Given the description of an element on the screen output the (x, y) to click on. 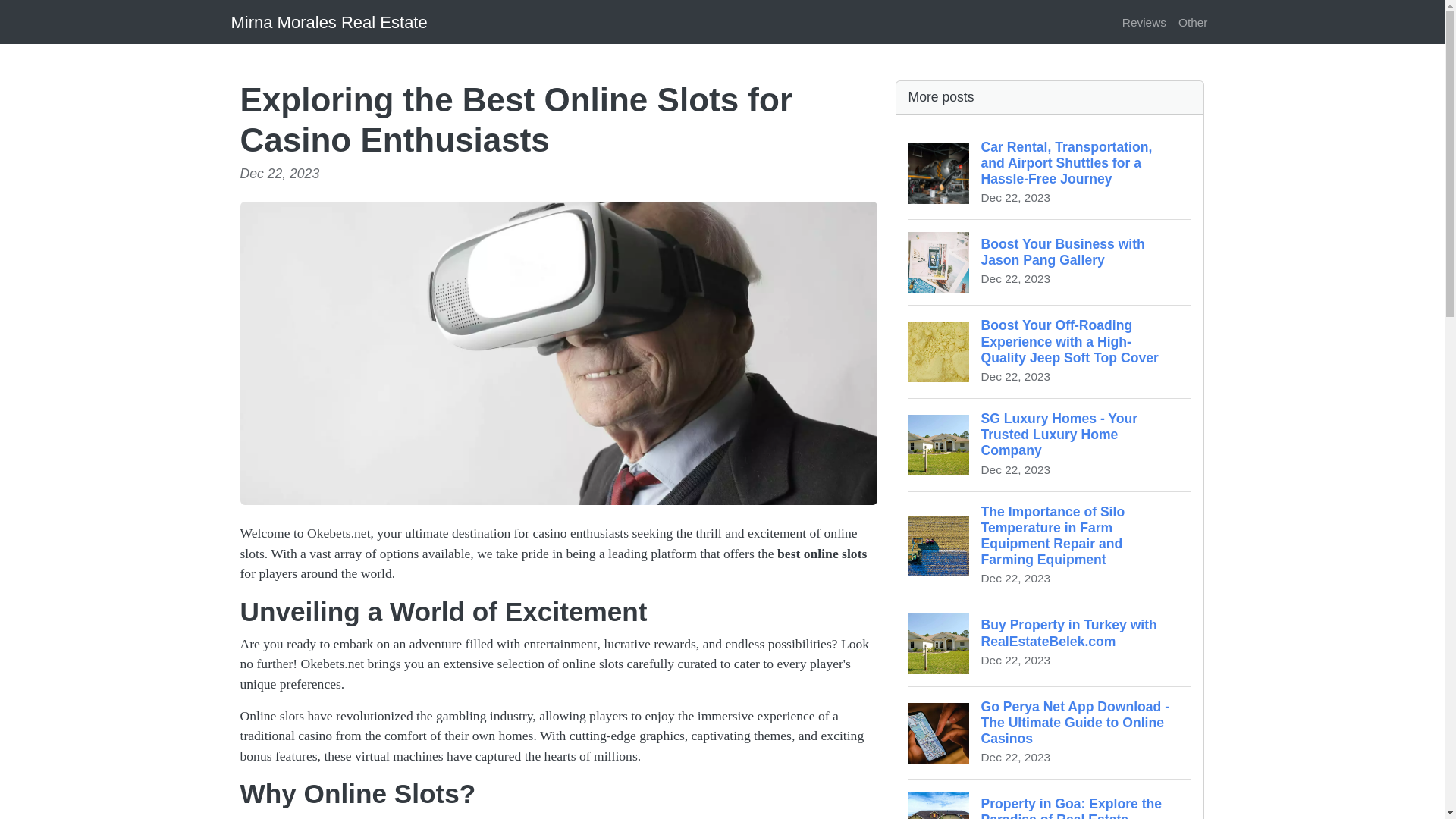
Other (1050, 261)
Mirna Morales Real Estate (1193, 21)
Reviews (1050, 643)
